Given the description of an element on the screen output the (x, y) to click on. 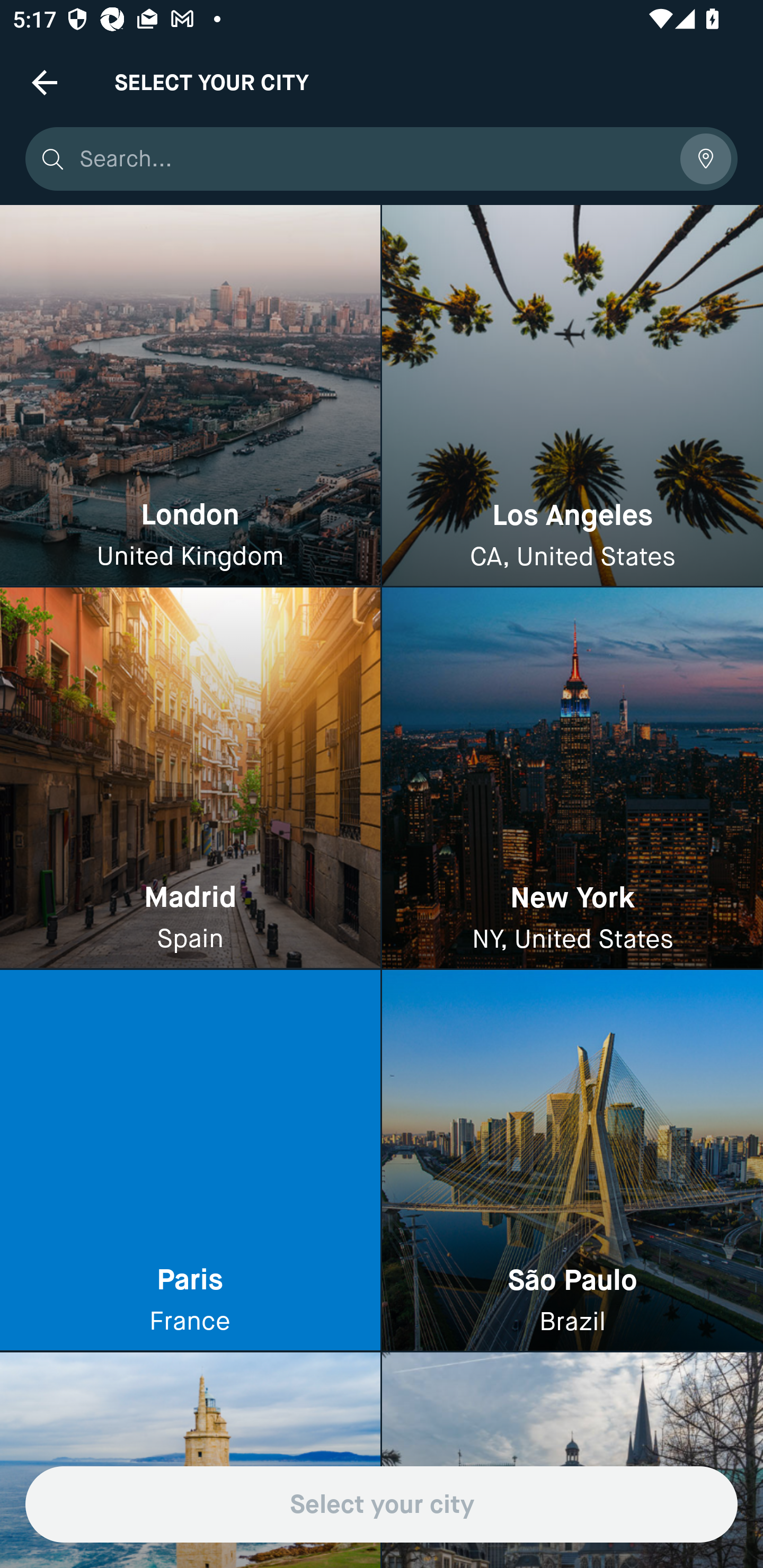
Navigate up (44, 82)
Search... (373, 159)
London United Kingdom (190, 395)
Los Angeles CA, United States (572, 395)
Madrid Spain (190, 778)
New York NY, United States (572, 778)
Paris France (190, 1160)
São Paulo Brazil (572, 1160)
Select your city (381, 1504)
